Given the description of an element on the screen output the (x, y) to click on. 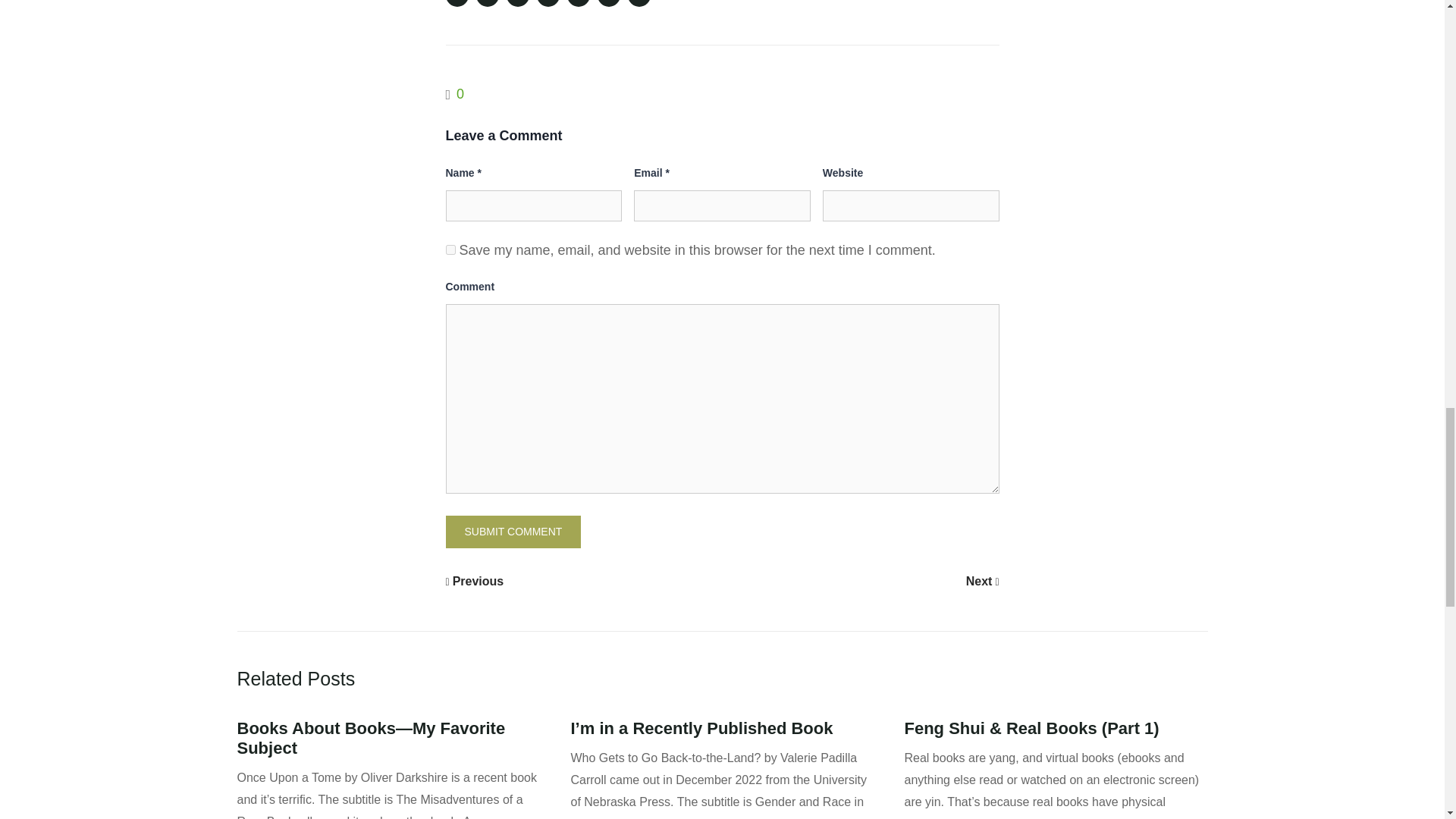
Share on LinkedIn (517, 3)
Share on Facebook (456, 3)
Share on Twitter (487, 3)
Share on Tumblr (608, 3)
Share on Reddit (578, 3)
yes (450, 249)
Submit Comment (512, 531)
Share on Pinterest (548, 3)
